Given the description of an element on the screen output the (x, y) to click on. 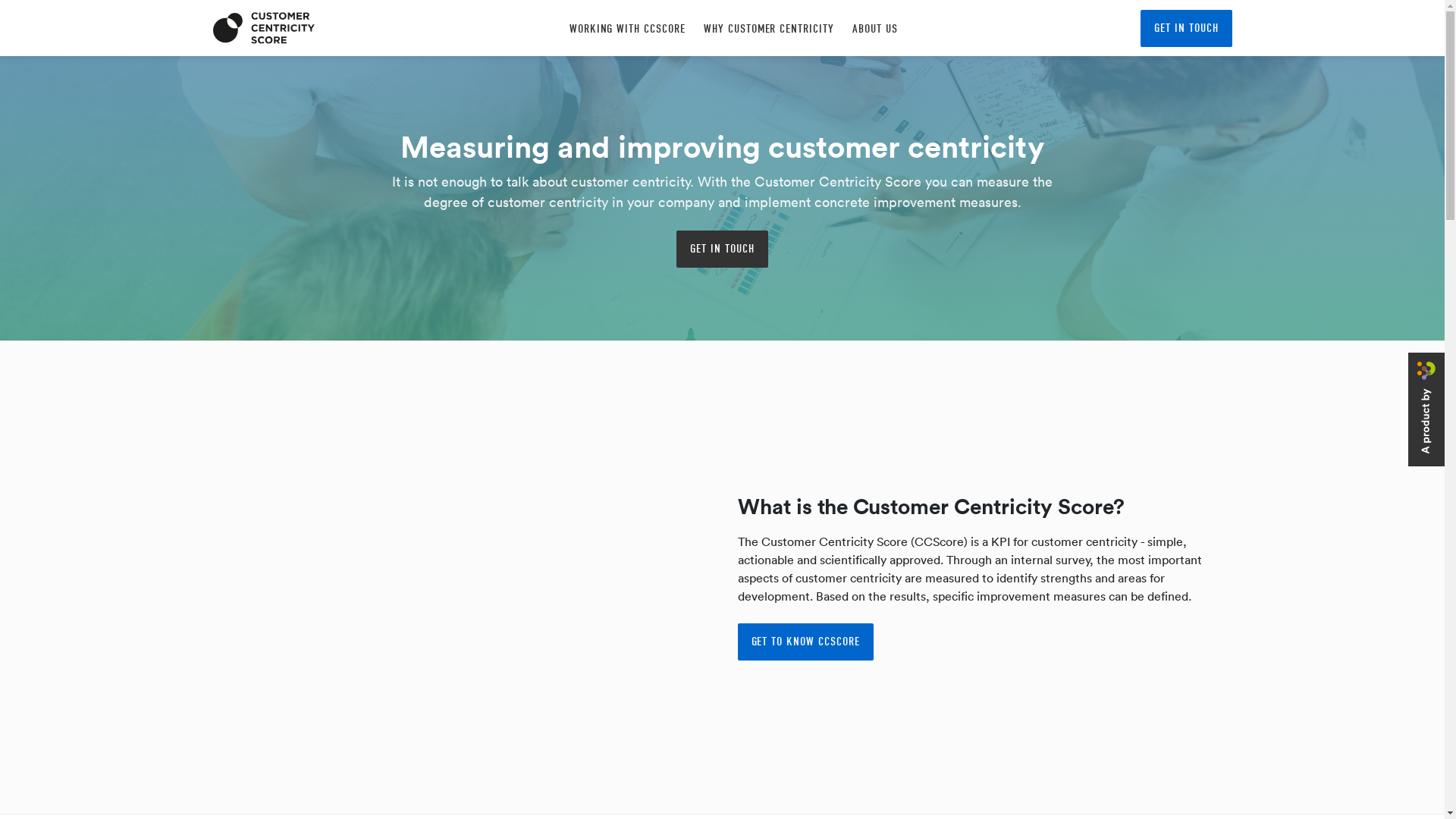
GET IN TOUCH Element type: text (722, 248)
GET TO KNOW CCSCORE Element type: text (804, 641)
WHY CUSTOMER CENTRICITY Element type: text (768, 29)
GET IN TOUCH Element type: text (1186, 27)
WORKING WITH CCSCORE Element type: text (627, 29)
ABOUT US Element type: text (874, 29)
